Given the description of an element on the screen output the (x, y) to click on. 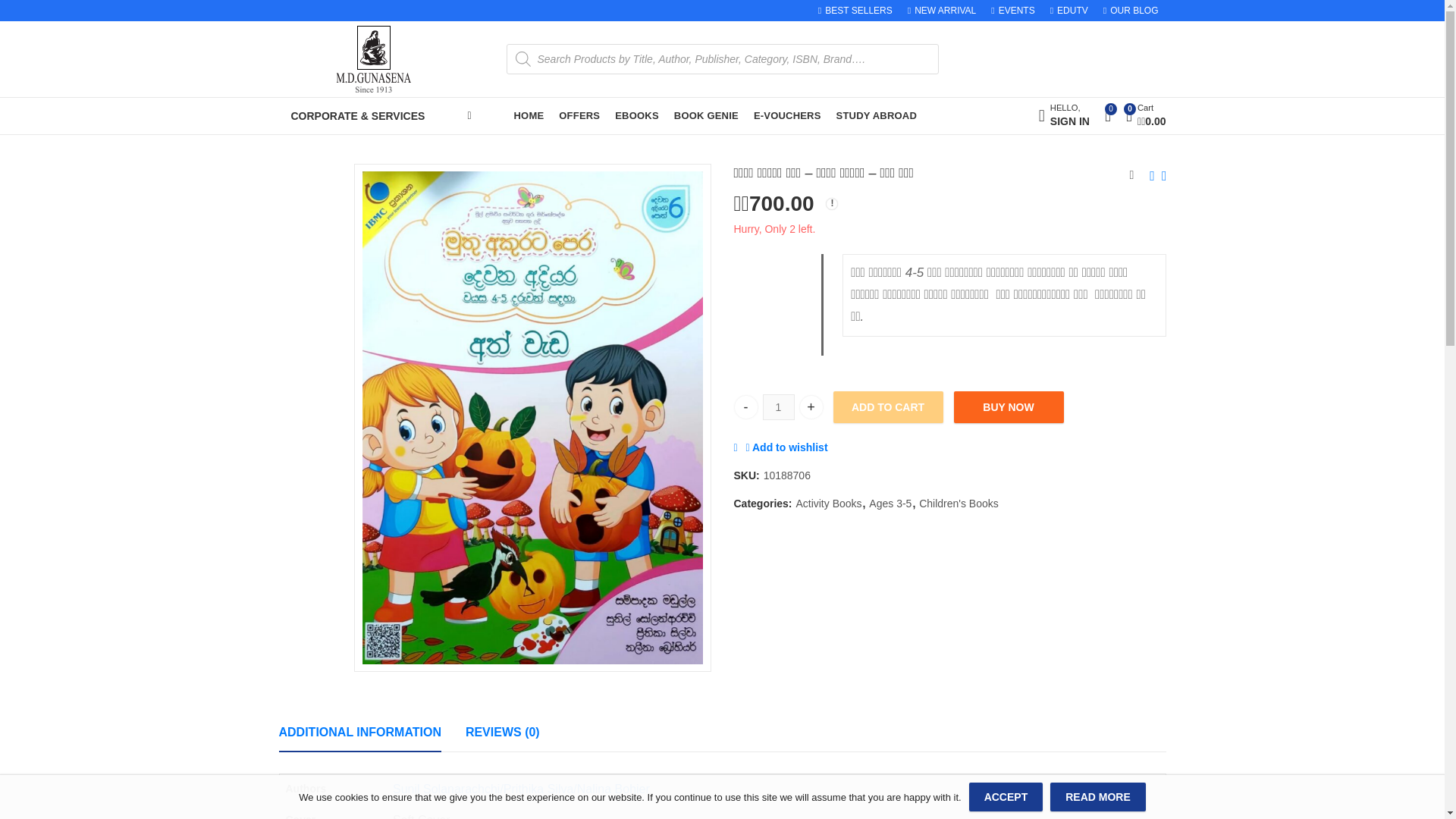
OUR BLOG (1127, 10)
STUDY ABROAD (876, 116)
EVENTS (1013, 10)
BEST SELLERS (858, 10)
HOME (1064, 116)
Gurulugomi eBook Store (528, 116)
- (636, 116)
OFFERS (745, 406)
EDUTV (579, 116)
BOOK GENIE (1069, 10)
1 (705, 116)
NEW ARRIVAL (778, 406)
E-VOUCHERS (941, 10)
EBOOKS (786, 116)
